Given the description of an element on the screen output the (x, y) to click on. 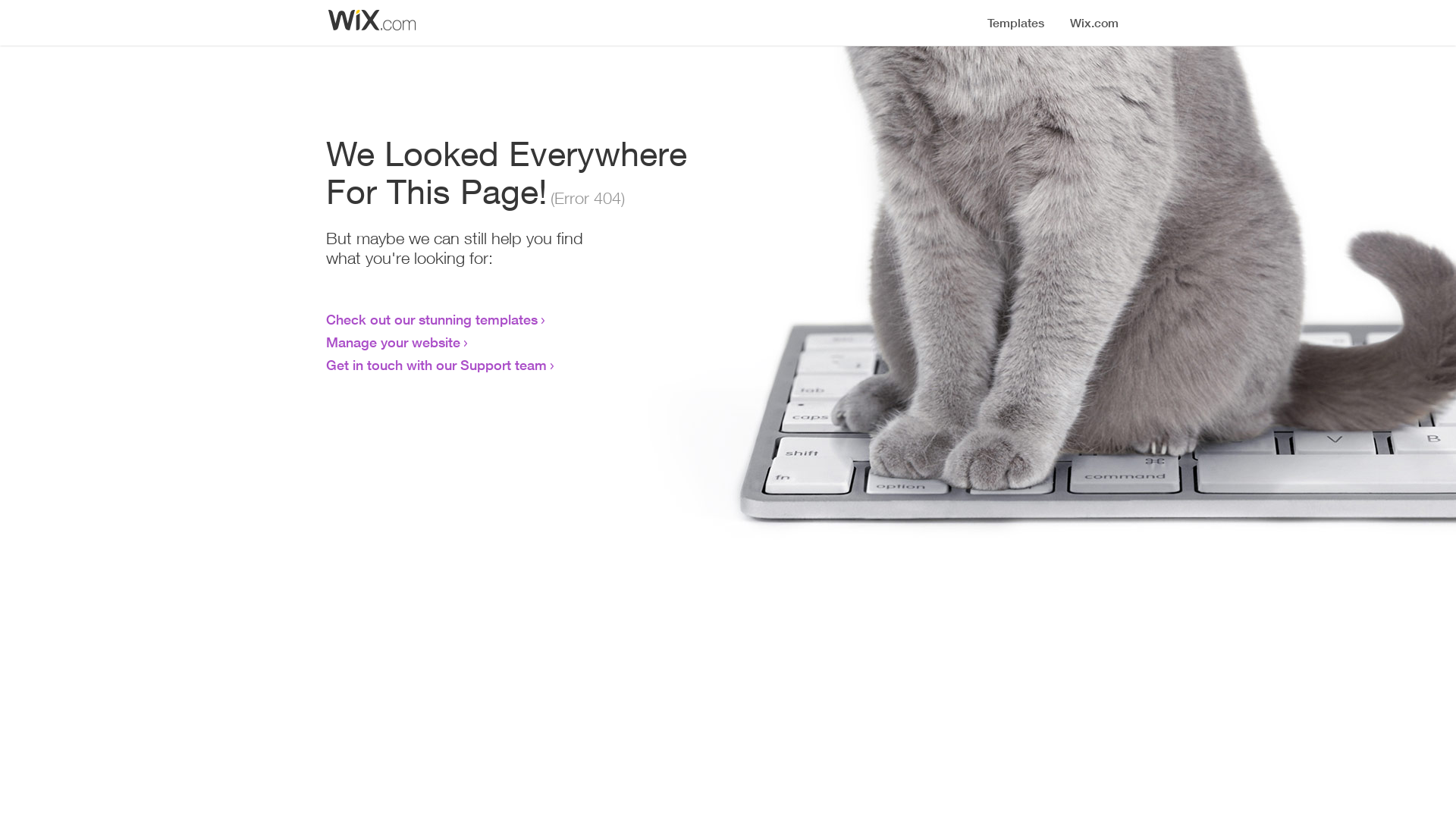
Check out our stunning templates Element type: text (431, 318)
Get in touch with our Support team Element type: text (436, 364)
Manage your website Element type: text (393, 341)
